Given the description of an element on the screen output the (x, y) to click on. 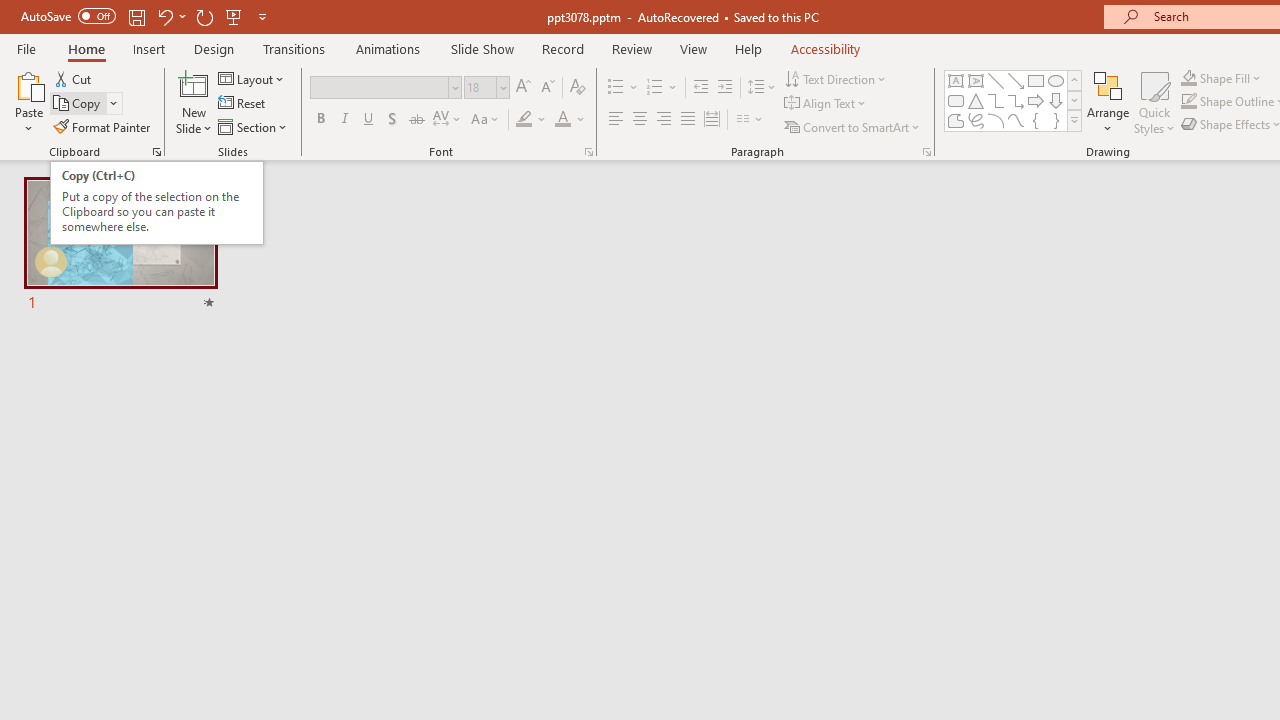
AutomationID: ShapesInsertGallery (1014, 100)
Office Clipboard... (156, 151)
New Slide (193, 84)
Numbering (661, 87)
Columns (750, 119)
Paragraph... (926, 151)
Quick Styles (1154, 102)
Slide (120, 246)
Font Color Red (562, 119)
Redo (204, 15)
Bold (320, 119)
From Beginning (234, 15)
Transitions (294, 48)
Paste (28, 102)
